Given the description of an element on the screen output the (x, y) to click on. 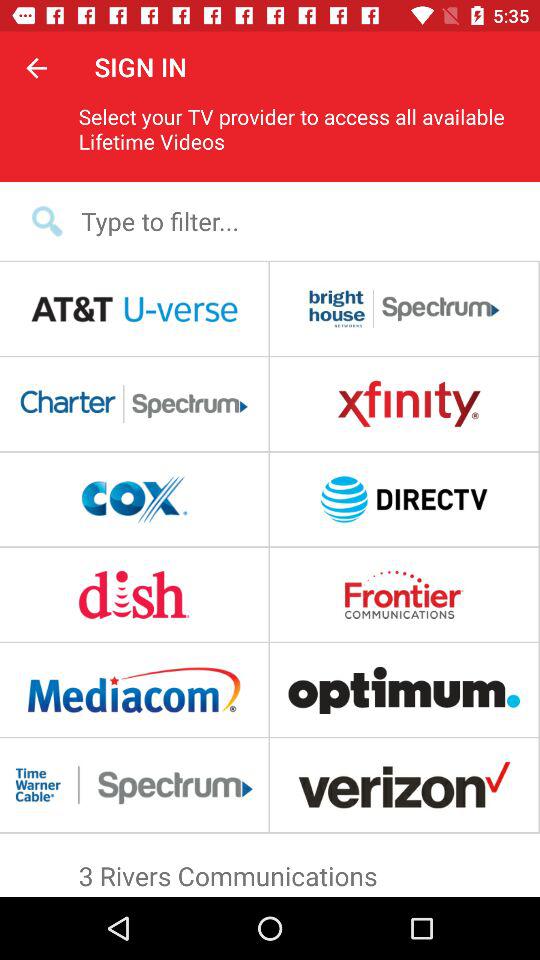
open the item above select your tv (36, 67)
